Given the description of an element on the screen output the (x, y) to click on. 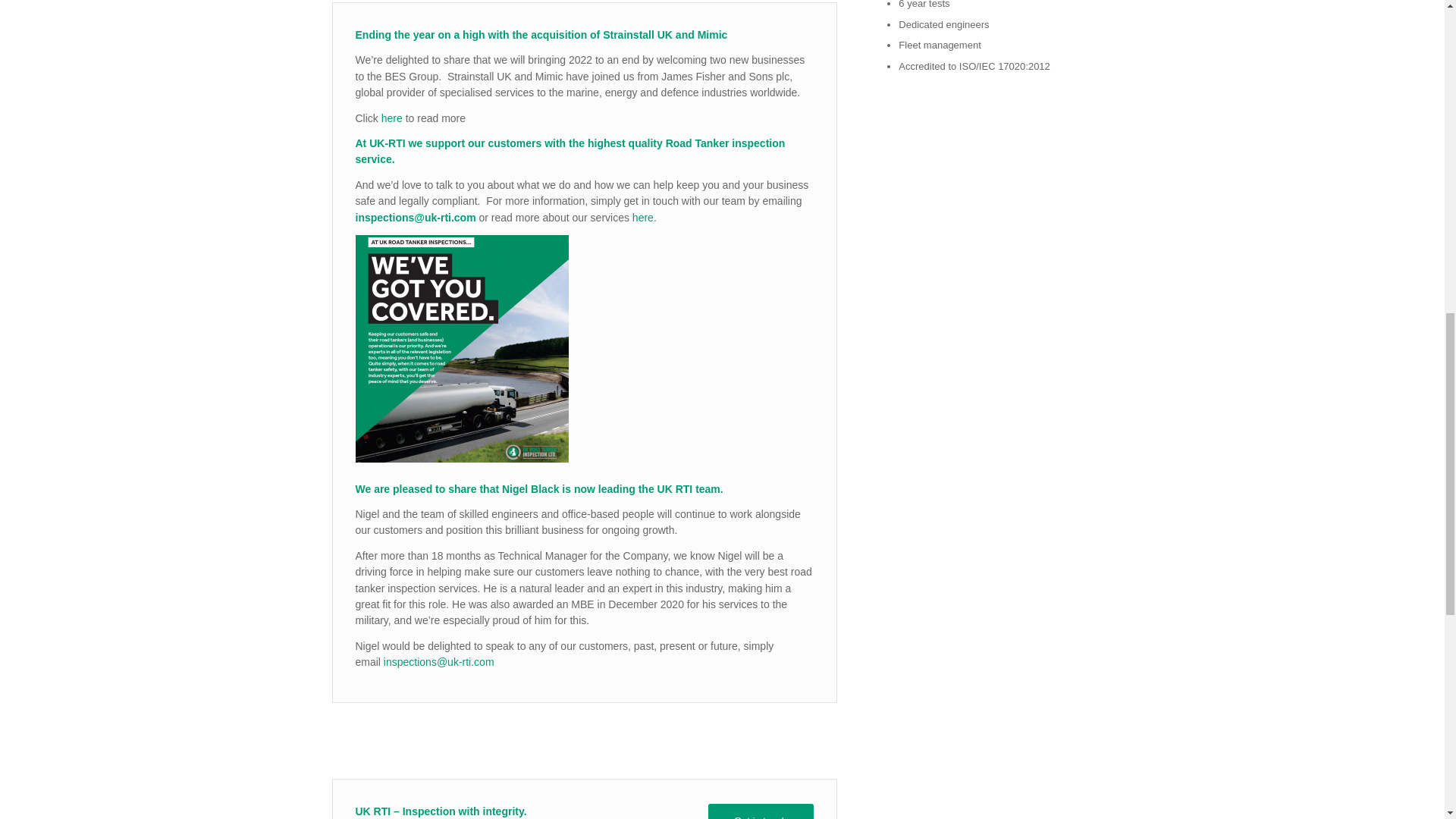
here (642, 217)
here (390, 118)
Get in touch (760, 811)
